Given the description of an element on the screen output the (x, y) to click on. 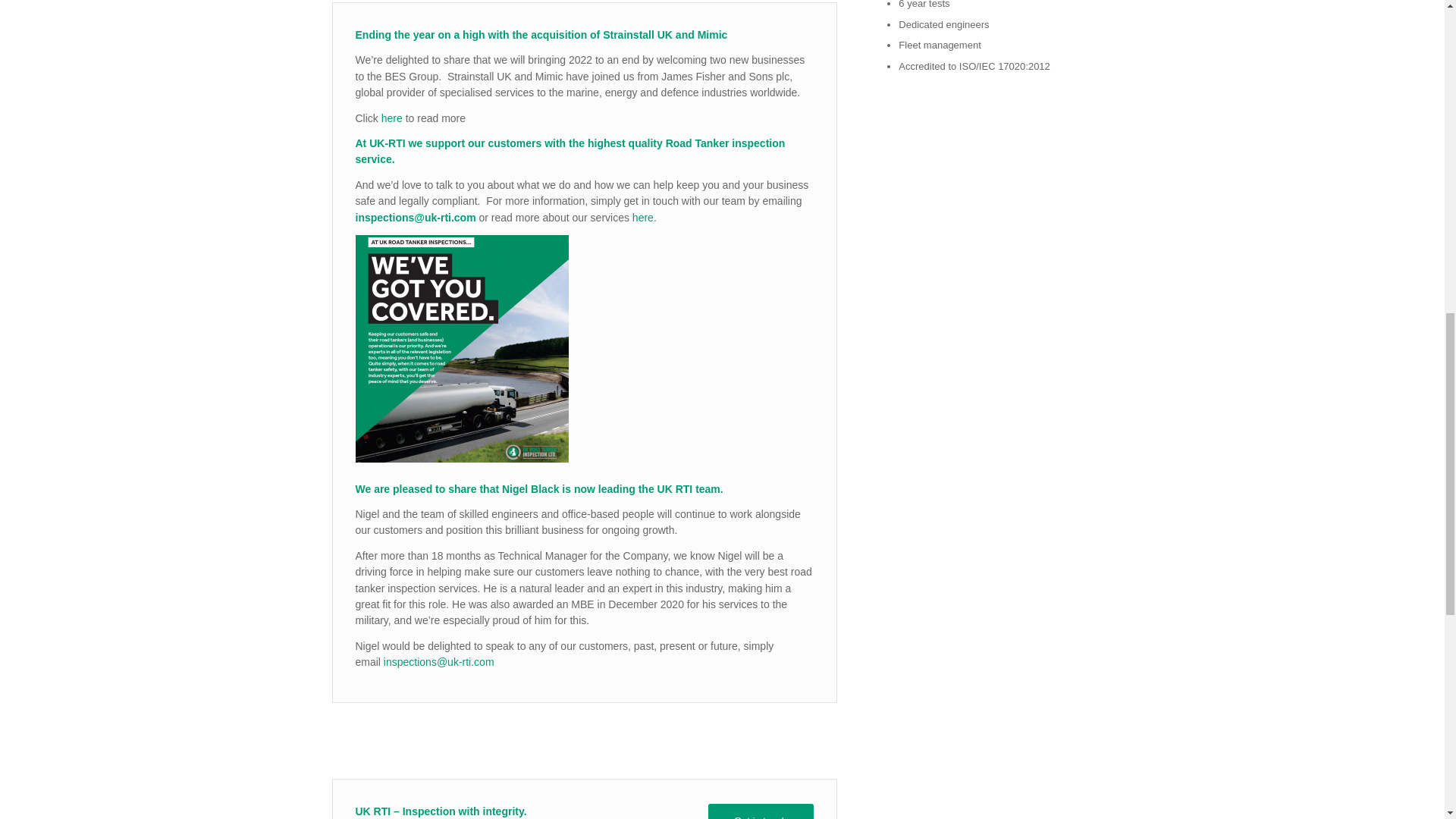
here (642, 217)
here (390, 118)
Get in touch (760, 811)
